Given the description of an element on the screen output the (x, y) to click on. 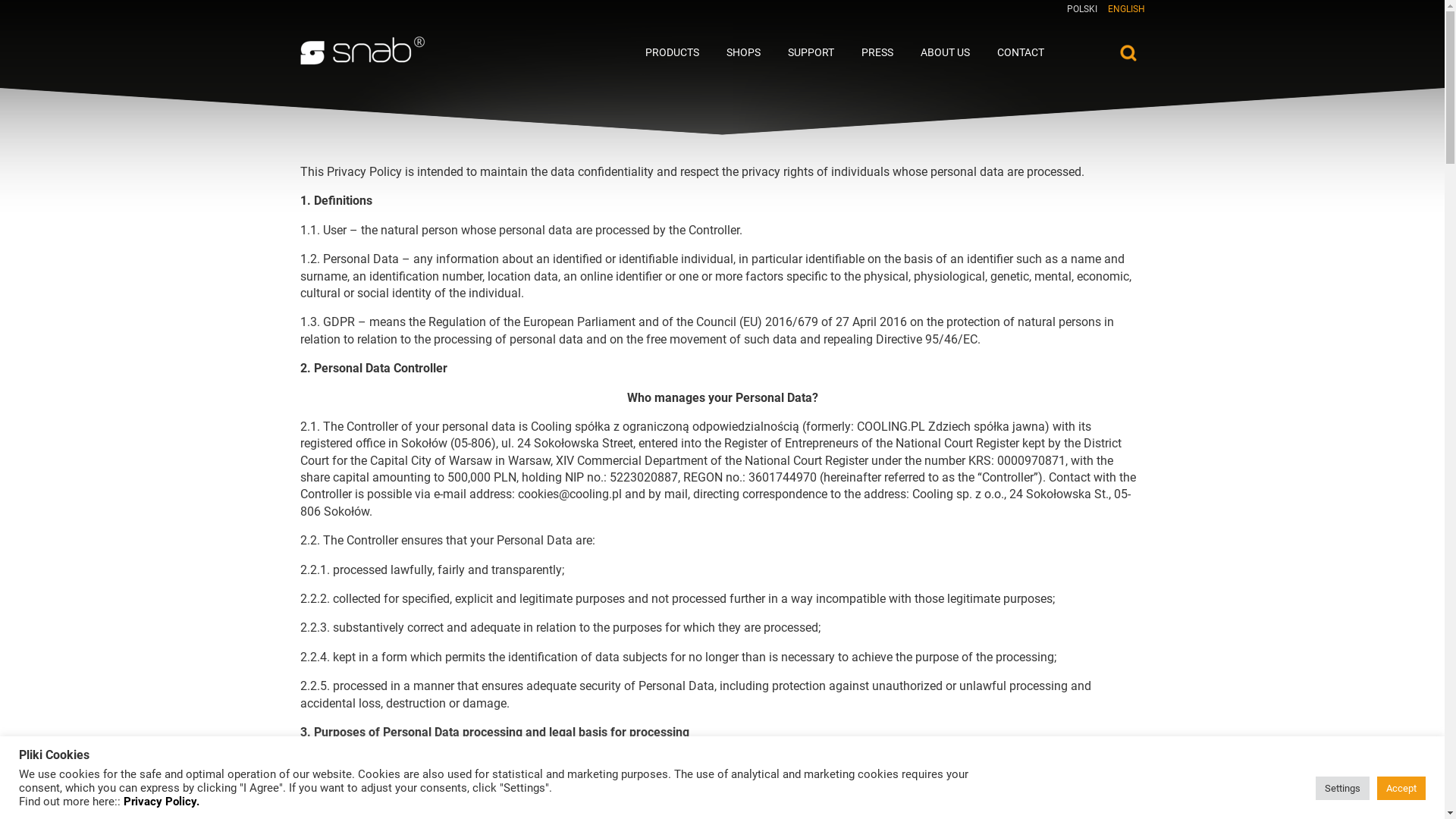
PRODUCTS Element type: text (672, 37)
SHOPS Element type: text (743, 37)
Privacy Policy. Element type: text (161, 801)
Accept Element type: text (1401, 788)
ABOUT US Element type: text (945, 37)
Settings Element type: text (1342, 788)
PRESS Element type: text (877, 37)
SUPPORT Element type: text (810, 37)
POLSKI Element type: text (1081, 8)
ENGLISH Element type: text (1125, 8)
CONTACT Element type: text (1020, 37)
